Given the description of an element on the screen output the (x, y) to click on. 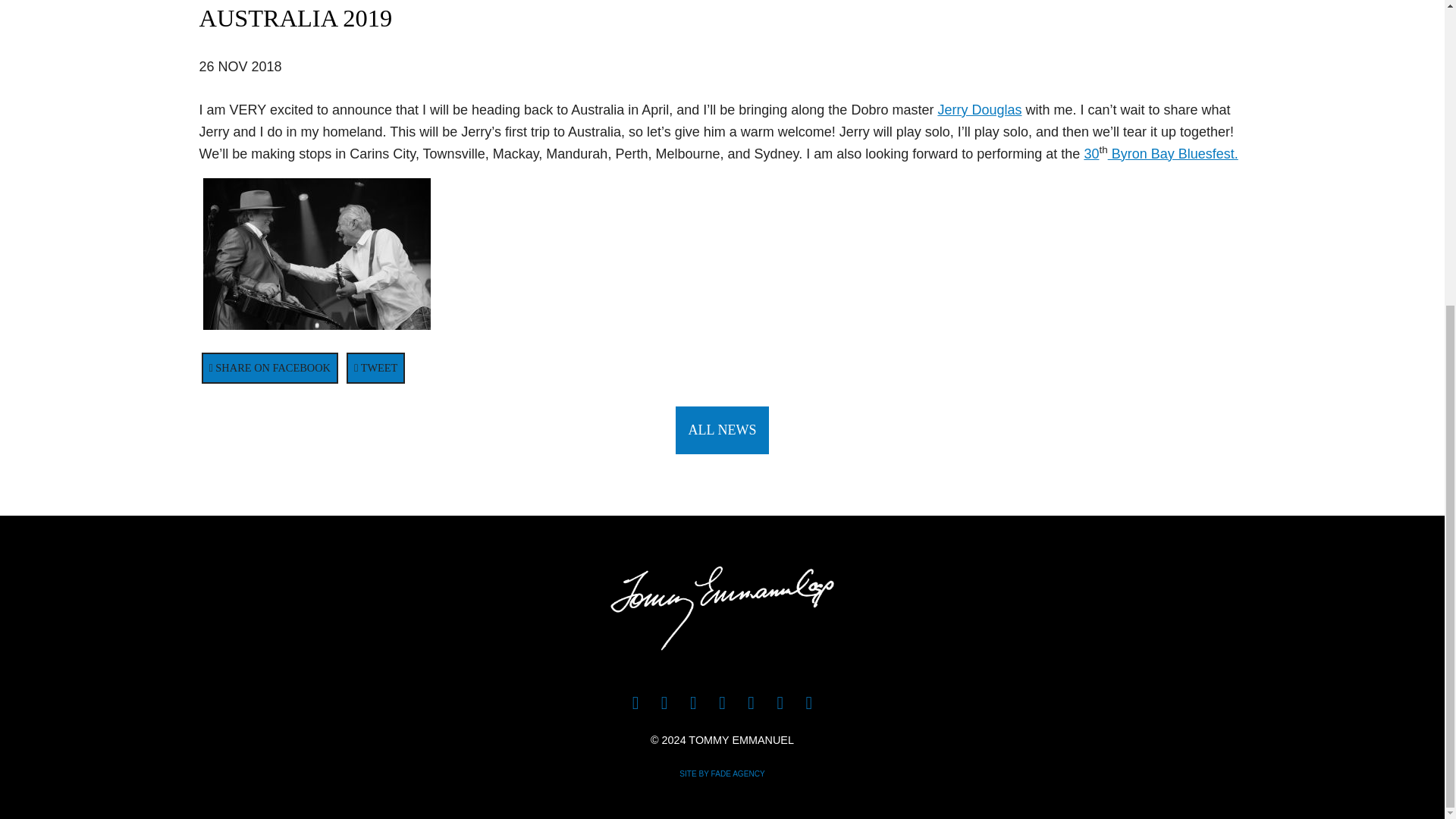
Byron Bay Bluesfest. (1173, 153)
SITE BY FADE AGENCY (721, 773)
ALL NEWS (722, 429)
Jerry Douglas (979, 109)
TWEET (375, 367)
SHARE ON FACEBOOK (270, 367)
30 (1091, 153)
